Given the description of an element on the screen output the (x, y) to click on. 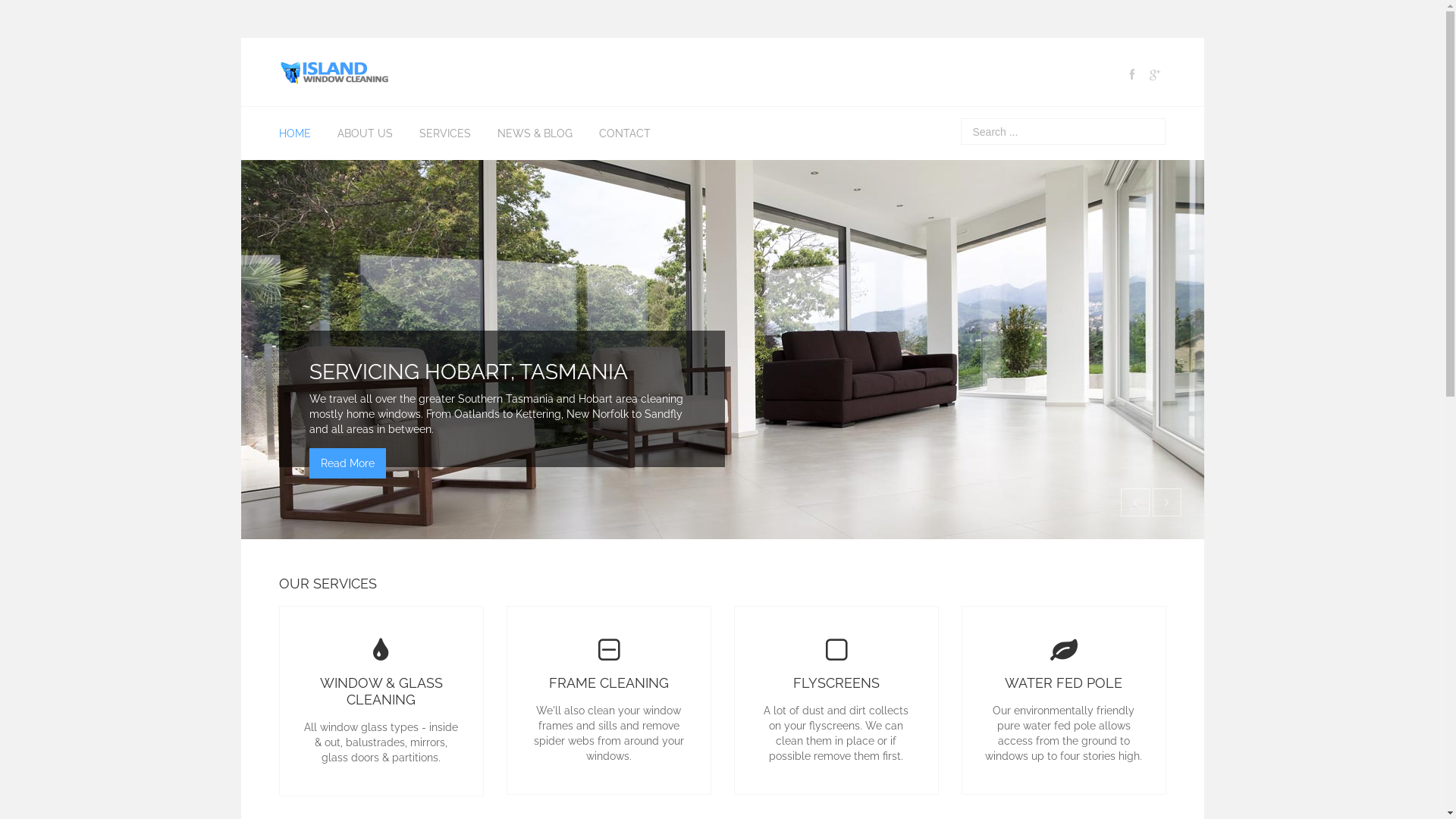
HOME Element type: text (298, 133)
Read More Element type: text (347, 463)
CONTACT Element type: text (624, 133)
NEWS & BLOG Element type: text (534, 133)
SERVICES Element type: text (444, 133)
ABOUT US Element type: text (364, 133)
